Given the description of an element on the screen output the (x, y) to click on. 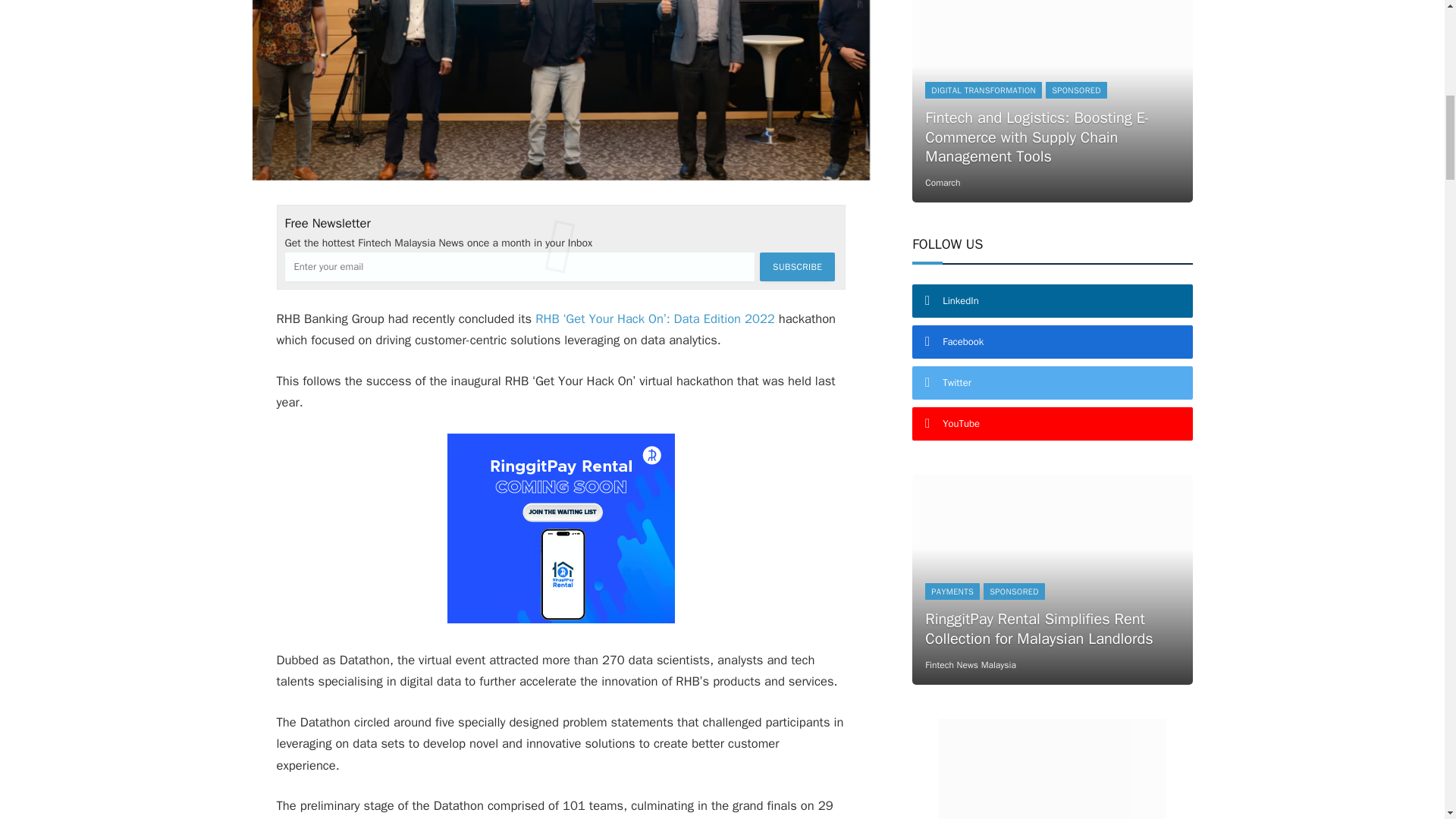
Subscribe (797, 266)
